Given the description of an element on the screen output the (x, y) to click on. 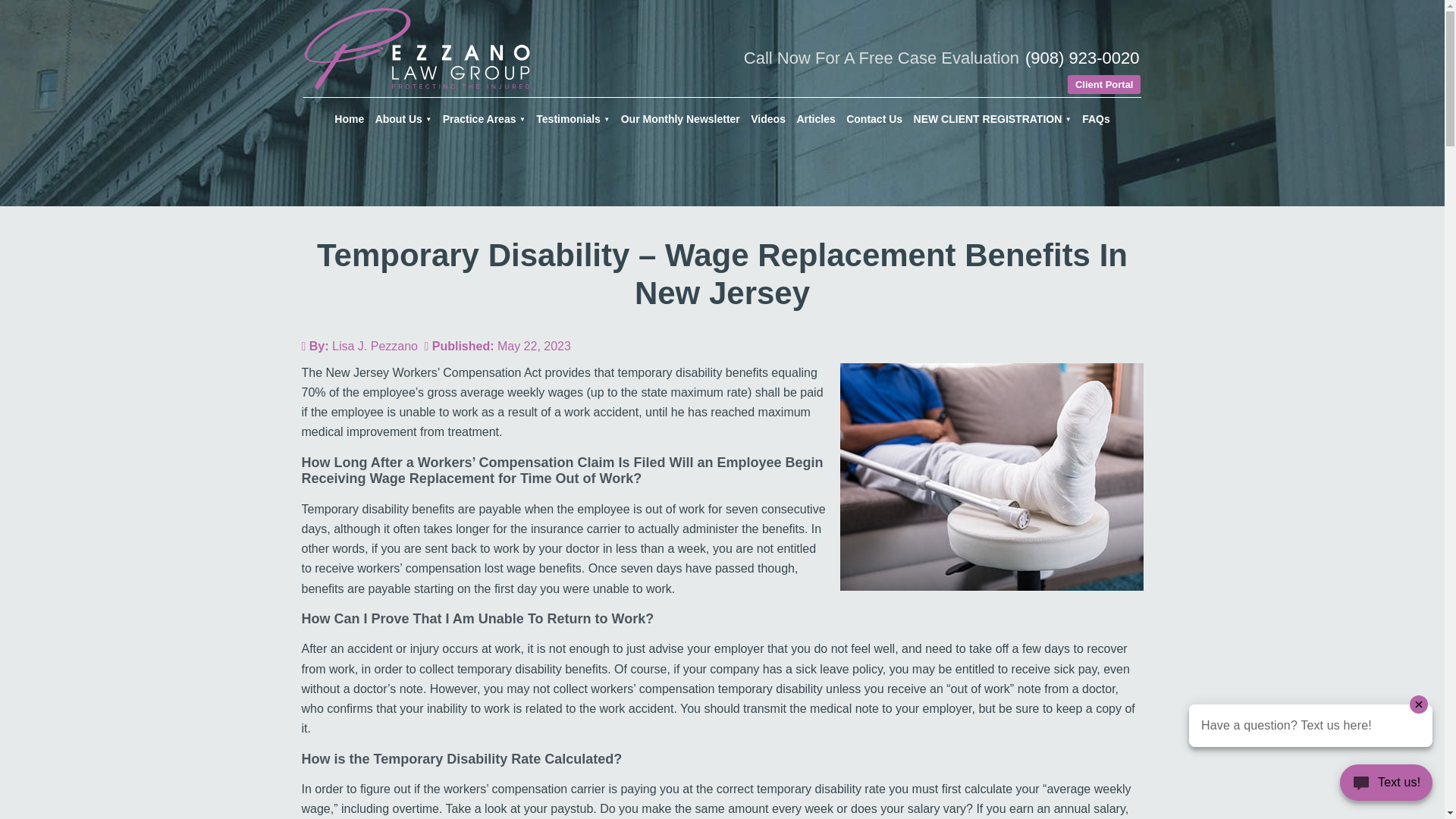
Videos (767, 118)
Practice Areas (484, 118)
About Us (403, 118)
Contact Us (874, 118)
Articles (815, 118)
FAQs (1095, 118)
Home (349, 118)
Our Monthly Newsletter (680, 118)
Client Portal (1104, 84)
NEW CLIENT REGISTRATION (992, 118)
Testimonials (572, 118)
